Given the description of an element on the screen output the (x, y) to click on. 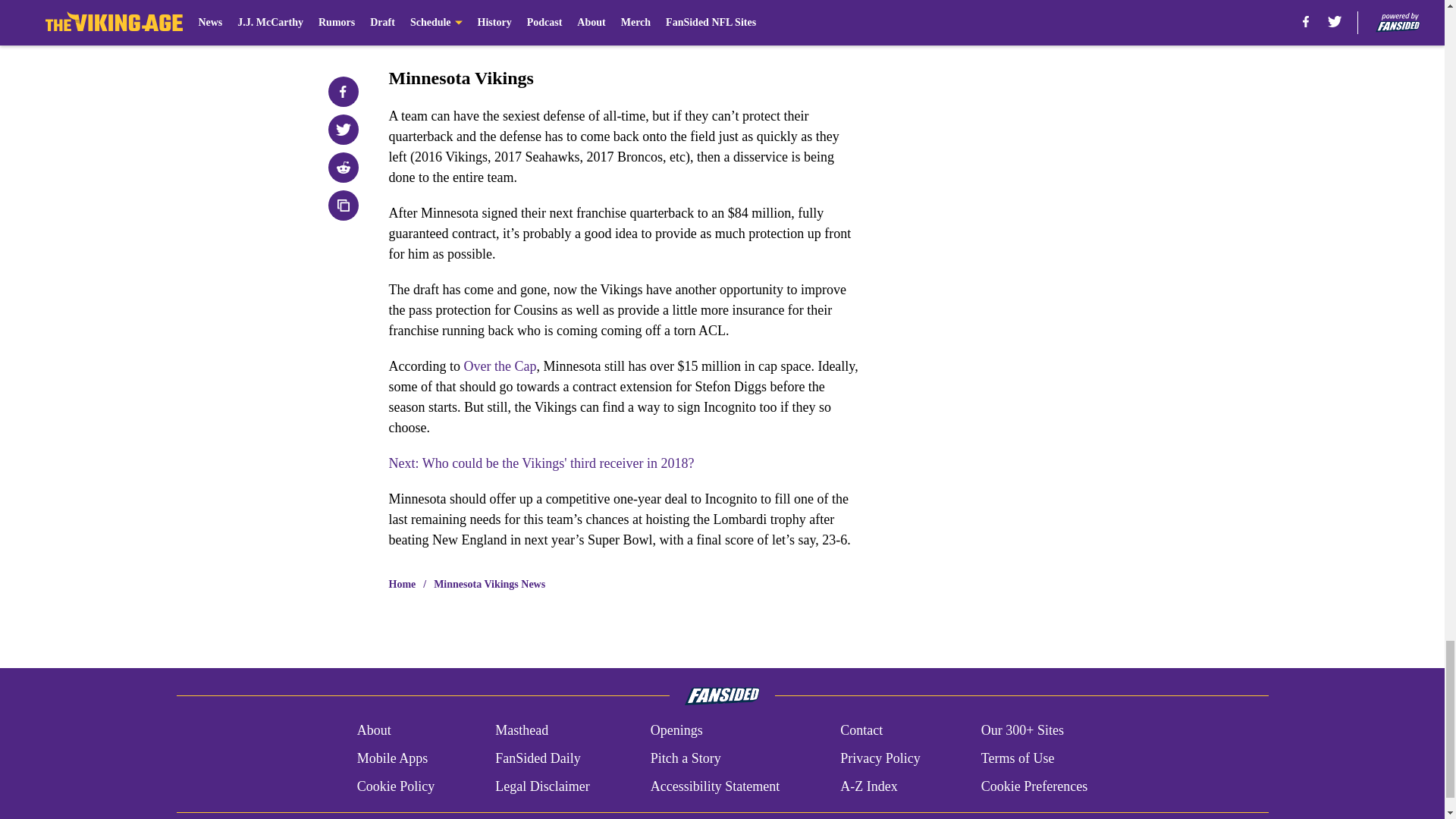
Next: Who could be the Vikings' third receiver in 2018? (541, 462)
FanSided Daily (537, 758)
Home (401, 584)
Pitch a Story (685, 758)
About (373, 729)
Masthead (521, 729)
Minnesota Vikings News (488, 584)
Mobile Apps (392, 758)
Contact (861, 729)
Openings (676, 729)
Over the Cap (499, 365)
